Given the description of an element on the screen output the (x, y) to click on. 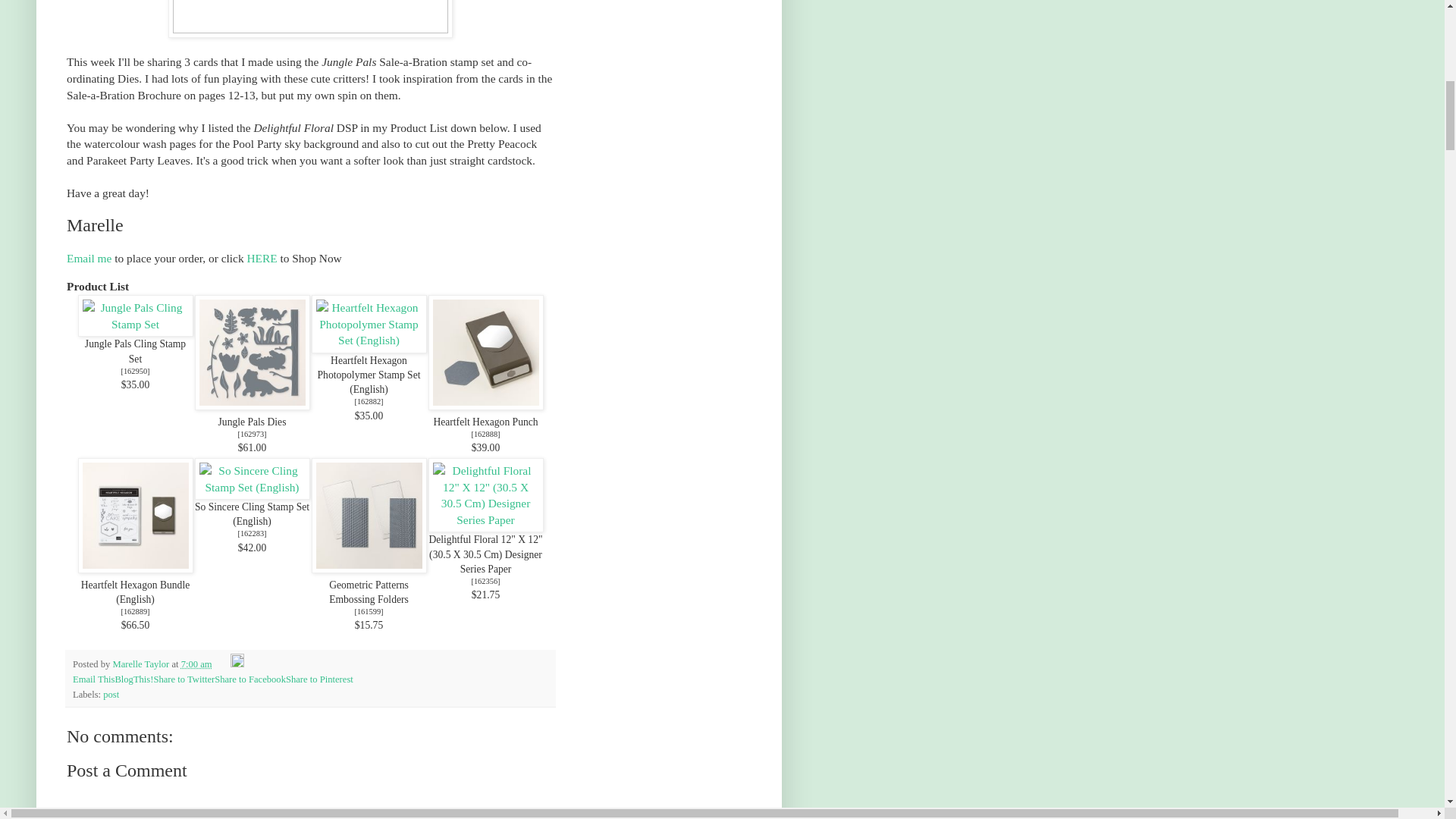
Heartfelt Hexagon Punch (485, 352)
Jungle Pals Dies (250, 352)
162950 (135, 370)
7:00 am (196, 664)
Jungle Pals Dies (252, 421)
162973 (251, 433)
Jungle Pals Cling Stamp Set (134, 315)
Email me (89, 257)
Jungle Pals Cling Stamp Set (135, 370)
Heartfelt Hexagon Punch (484, 421)
Email This (93, 679)
Jungle Pals Cling Stamp Set (134, 323)
Jungle Pals Cling Stamp Set (135, 350)
162889 (135, 611)
Jungle Pals Dies (252, 421)
